Given the description of an element on the screen output the (x, y) to click on. 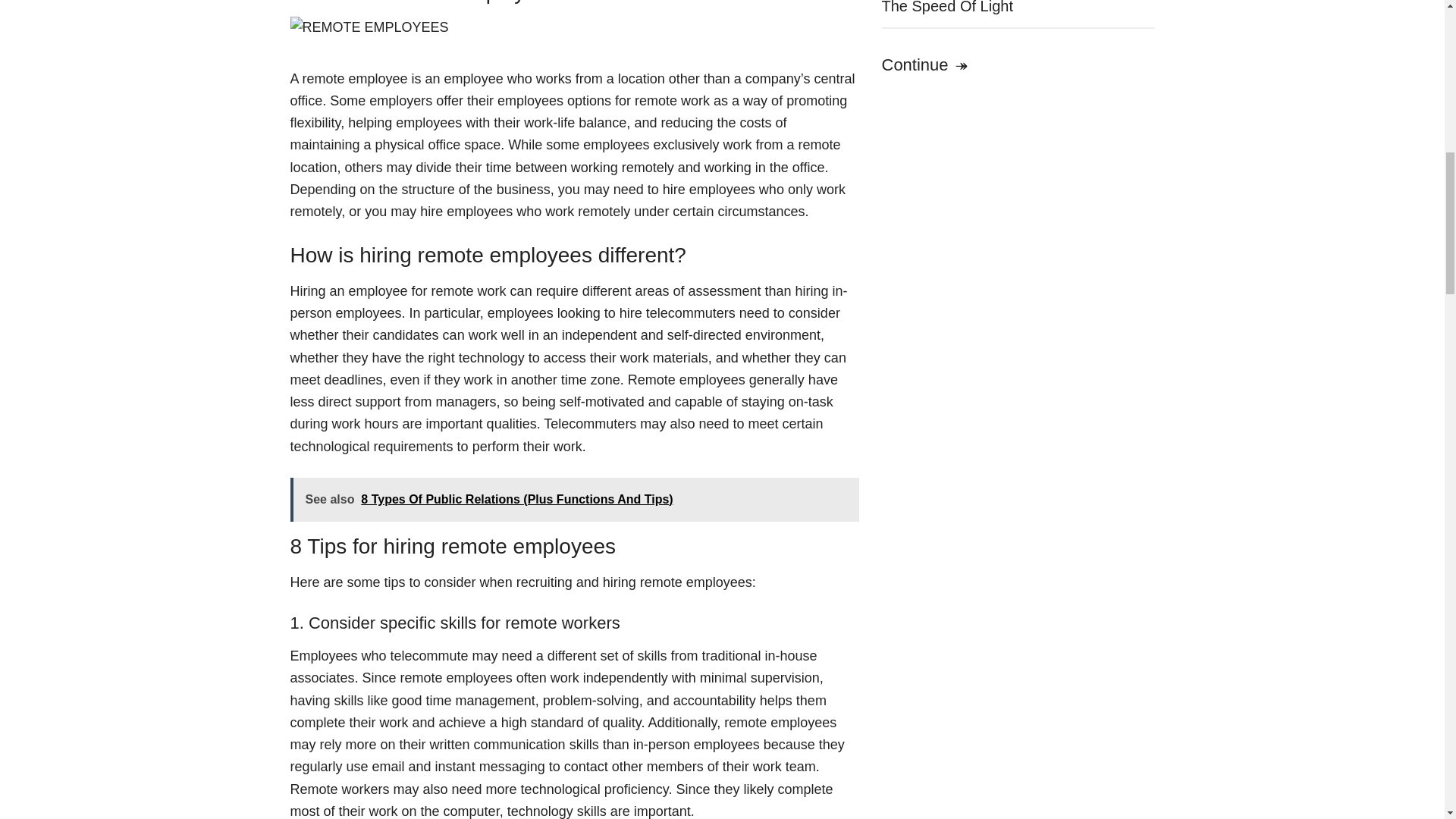
IoT products (368, 27)
Study (924, 64)
How To Answer Exam Questions With The Speed Of Light (1007, 7)
